Given the description of an element on the screen output the (x, y) to click on. 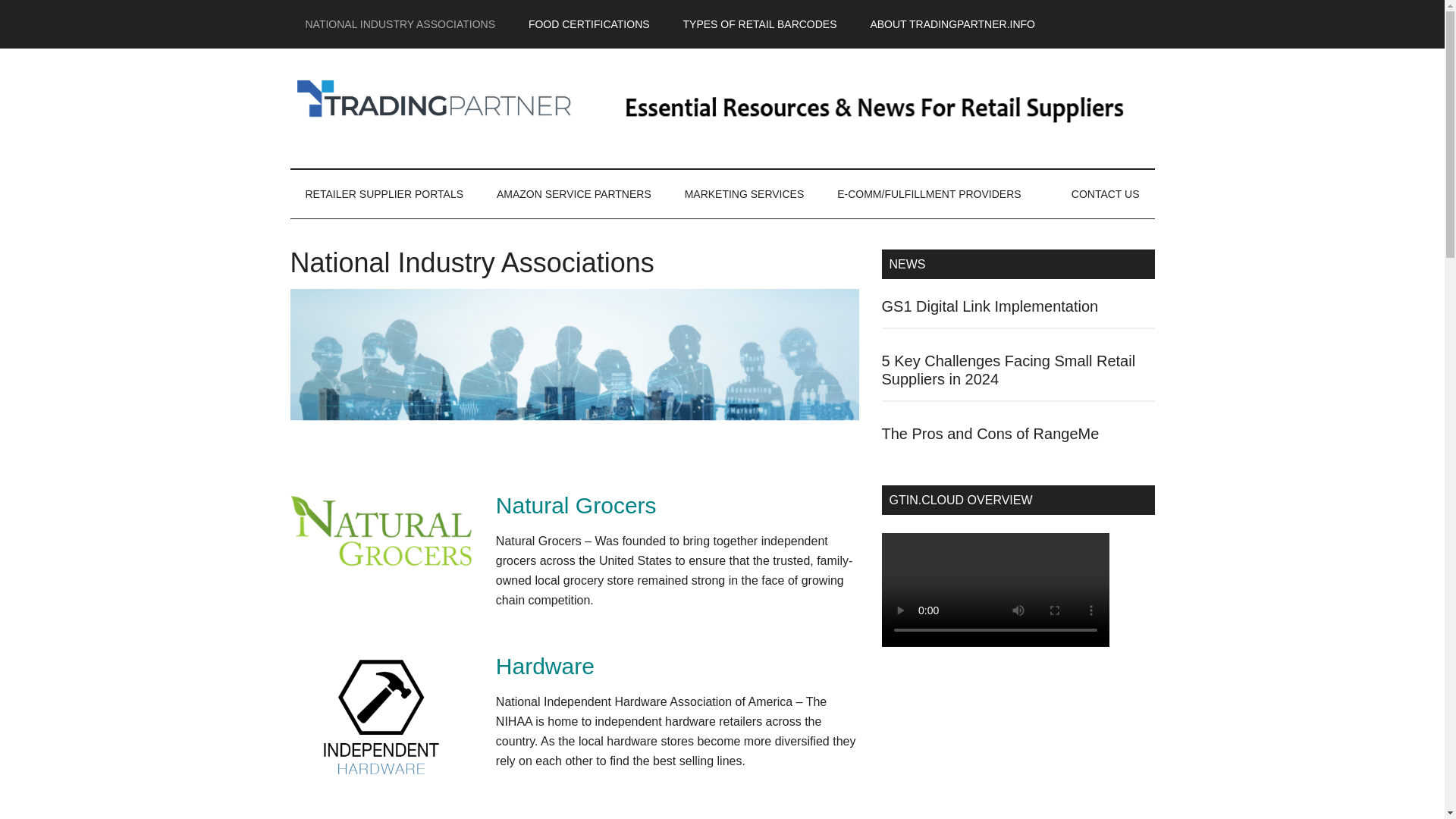
FOOD CERTIFICATIONS (589, 24)
CONTACT US (1105, 193)
TYPES OF RETAIL BARCODES (758, 24)
RETAILER SUPPLIER PORTALS (384, 193)
5 Key Challenges Facing Small Retail Suppliers in 2024 (1007, 369)
GS1 Digital Link Implementation (988, 306)
AMAZON SERVICE PARTNERS (573, 193)
ABOUT TRADINGPARTNER.INFO (951, 24)
Natural Grocers (576, 505)
